Given the description of an element on the screen output the (x, y) to click on. 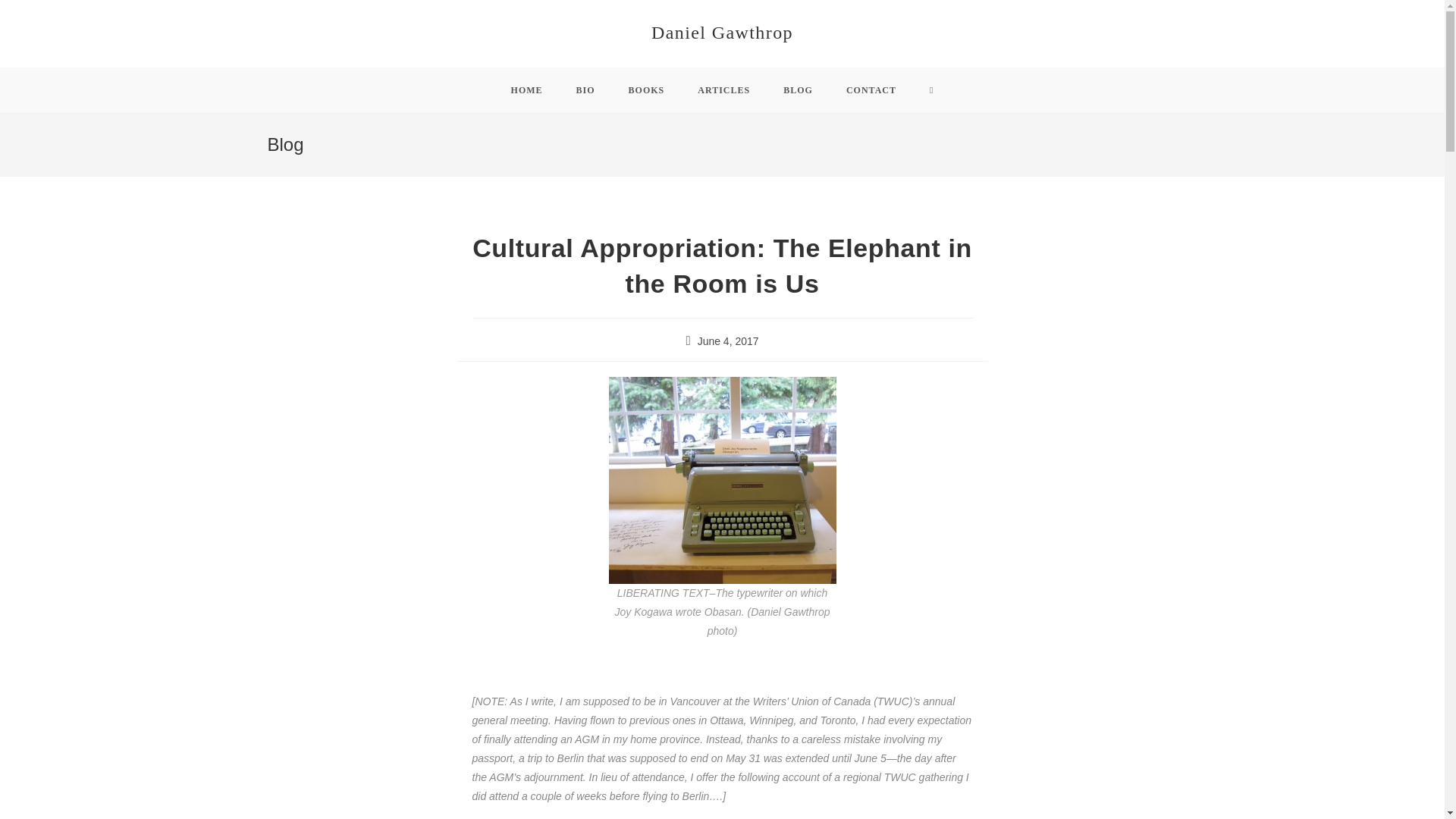
ARTICLES (724, 90)
HOME (527, 90)
BIO (585, 90)
Daniel Gawthrop (721, 32)
BOOKS (646, 90)
BLOG (798, 90)
CONTACT (870, 90)
